Given the description of an element on the screen output the (x, y) to click on. 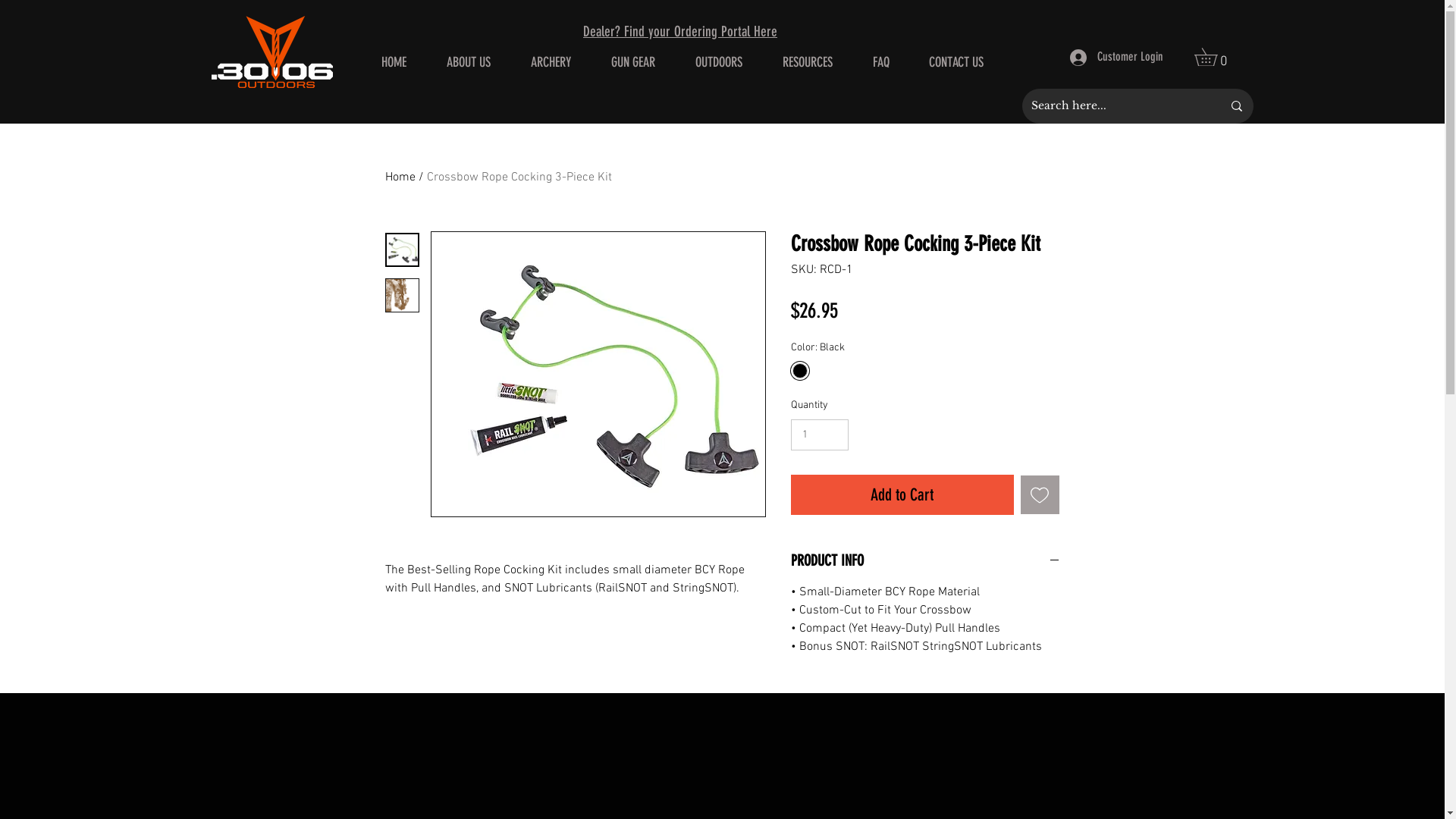
OUTDOORS Element type: text (718, 61)
Crossbow Rope Cocking 3-Piece Kit Element type: text (518, 177)
Add to Cart Element type: text (901, 494)
PRODUCT INFO Element type: text (924, 560)
GUN GEAR Element type: text (633, 61)
RESOURCES Element type: text (807, 61)
CONTACT US Element type: text (955, 61)
ABOUT US Element type: text (468, 61)
Home Element type: text (400, 177)
0 Element type: text (1213, 56)
Dealer? Find your Ordering Portal Here Element type: text (680, 31)
ARCHERY Element type: text (551, 61)
HOME Element type: text (393, 61)
Customer Login Element type: text (1115, 56)
FAQ Element type: text (880, 61)
